Given the description of an element on the screen output the (x, y) to click on. 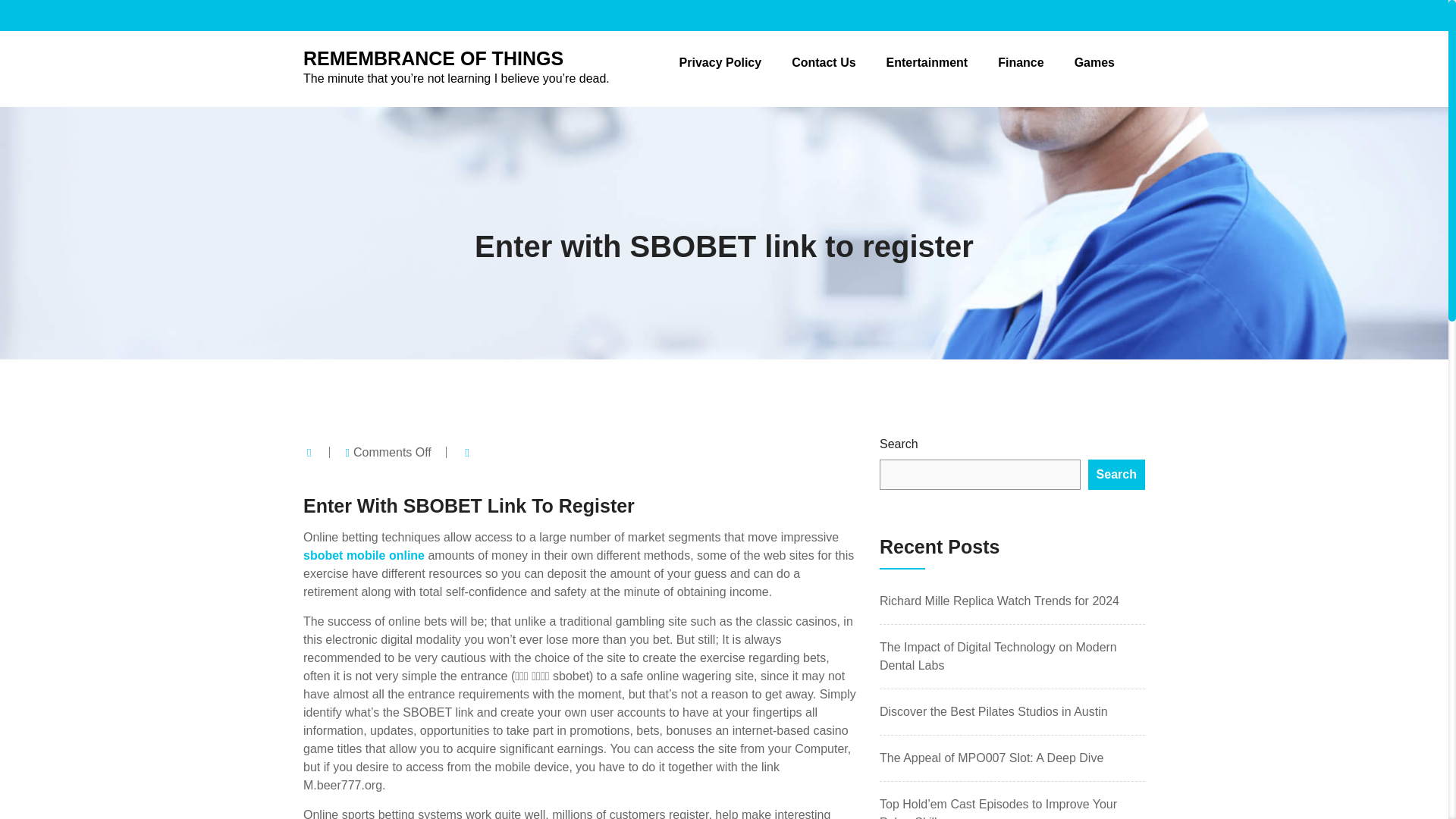
Finance (1020, 62)
Enter with SBOBET link to register (724, 246)
sbobet mobile online (363, 554)
Entertainment (927, 62)
Privacy Policy (720, 62)
Contact Us (824, 62)
The Impact of Digital Technology on Modern Dental Labs (997, 655)
The Appeal of MPO007 Slot: A Deep Dive (991, 757)
Discover the Best Pilates Studios in Austin (993, 711)
Search (1115, 474)
